Given the description of an element on the screen output the (x, y) to click on. 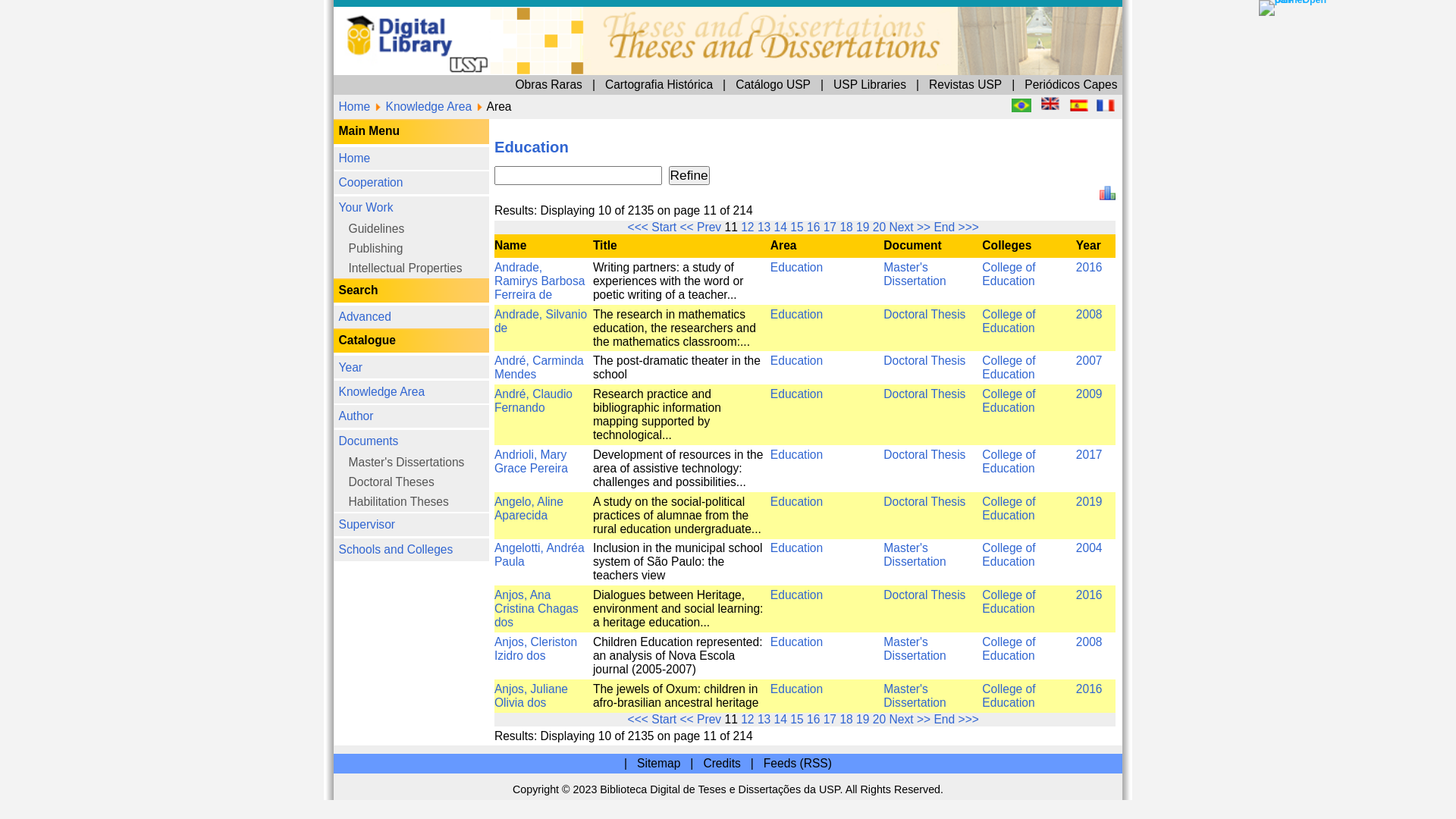
Master's Dissertation Element type: text (703, 534)
2007 Element type: text (837, 277)
Education Element type: text (612, 277)
17 Element type: text (638, 553)
College of Education Element type: text (775, 390)
Your Work Element type: text (316, 159)
Advanced Element type: text (316, 243)
Andrioli, Mary Grace Pereira Element type: text (407, 355)
Intellectual Properties Element type: text (316, 205)
Knowledge Area Element type: text (316, 301)
Refine Element type: text (530, 135)
College of Education Element type: text (775, 246)
College of Education Element type: text (775, 462)
18 Element type: text (650, 553)
2008 Element type: text (837, 241)
20 Element type: text (675, 174)
Education Element type: text (612, 241)
Angelo, Aline Aparecida Element type: text (406, 390)
Revistas USP Element type: text (742, 64)
2004 Element type: text (837, 421)
12 Element type: text (575, 553)
Education Element type: text (612, 205)
Master's Dissertation Element type: text (703, 427)
2017 Element type: text (837, 349)
12 Element type: text (575, 174)
15 Element type: text (613, 553)
Credits Element type: text (554, 587)
16 Element type: text (625, 174)
Education Element type: text (612, 493)
16 Element type: text (625, 553)
Year Element type: text (316, 282)
2008 Element type: text (837, 493)
Schools and Colleges Element type: text (316, 422)
College of Education Element type: text (775, 355)
Education Element type: text (612, 302)
13 Element type: text (587, 174)
Next >> Element type: text (699, 553)
20 Element type: text (675, 553)
14 Element type: text (600, 174)
<< Prev Element type: text (539, 174)
French (Fr) Element type: hover (849, 80)
Habilitation Theses Element type: text (316, 385)
Next >> Element type: text (699, 174)
<<< Start Element type: text (501, 553)
Doctoral Thesis Element type: text (710, 302)
17 Element type: text (638, 174)
College of Education Element type: text (775, 534)
USP Libraries Element type: text (668, 64)
Sitemap Element type: text (506, 587)
Doctoral Thesis Element type: text (710, 457)
Doctoral Thesis Element type: text (710, 349)
Home Element type: text (316, 121)
Supervisor Element type: text (316, 403)
Master's Dissertations Element type: text (316, 355)
USP - Open panel Element type: hover (994, 6)
13 Element type: text (587, 553)
Doctoral Thesis Element type: text (710, 277)
Anjos, Ana Cristina Chagas dos Element type: text (411, 467)
Anjos, Cleriston Izidro dos Element type: text (411, 499)
Andrade, Silvanio de Element type: text (415, 246)
Home Element type: text (272, 81)
Documents Element type: text (316, 339)
19 Element type: text (663, 553)
19 Element type: text (663, 174)
Doctoral Thesis Element type: text (710, 385)
Education Element type: text (612, 457)
College of Education Element type: text (775, 210)
Author Element type: text (316, 320)
Feeds (RSS) Element type: text (612, 587)
2016 Element type: text (837, 205)
Cooperation Element type: text (316, 140)
2016 Element type: text (837, 529)
JoomlaWorks Simple Image Rotator Element type: hover (799, 31)
College of Education Element type: text (775, 308)
Master's Dissertation Element type: text (703, 210)
Education Element type: text (612, 529)
College of Education Element type: text (775, 282)
College of Education Element type: text (775, 499)
Publishing Element type: text (316, 190)
End >>> Element type: text (735, 553)
2019 Element type: text (837, 385)
14 Element type: text (600, 553)
English (United Kingdom) Element type: hover (807, 79)
15 Element type: text (613, 174)
Master's Dissertation Element type: text (703, 499)
2009 Element type: text (837, 302)
Doctoral Theses Element type: text (316, 370)
18 Element type: text (650, 174)
Obras Raras Element type: text (422, 64)
Education Element type: text (612, 385)
Education Element type: text (612, 349)
<<< Start Element type: text (501, 174)
College of Education Element type: text (775, 427)
2016 Element type: text (837, 457)
Knowledge Area Element type: text (329, 81)
Andrade, Ramirys Barbosa Ferreira de Element type: text (414, 215)
End >>> Element type: text (735, 174)
<< Prev Element type: text (539, 553)
Doctoral Thesis Element type: text (710, 241)
Guidelines Element type: text (316, 175)
Anjos, Juliane Olivia dos Element type: text (407, 534)
Education Element type: text (612, 421)
Home Element type: hover (316, 31)
